Given the description of an element on the screen output the (x, y) to click on. 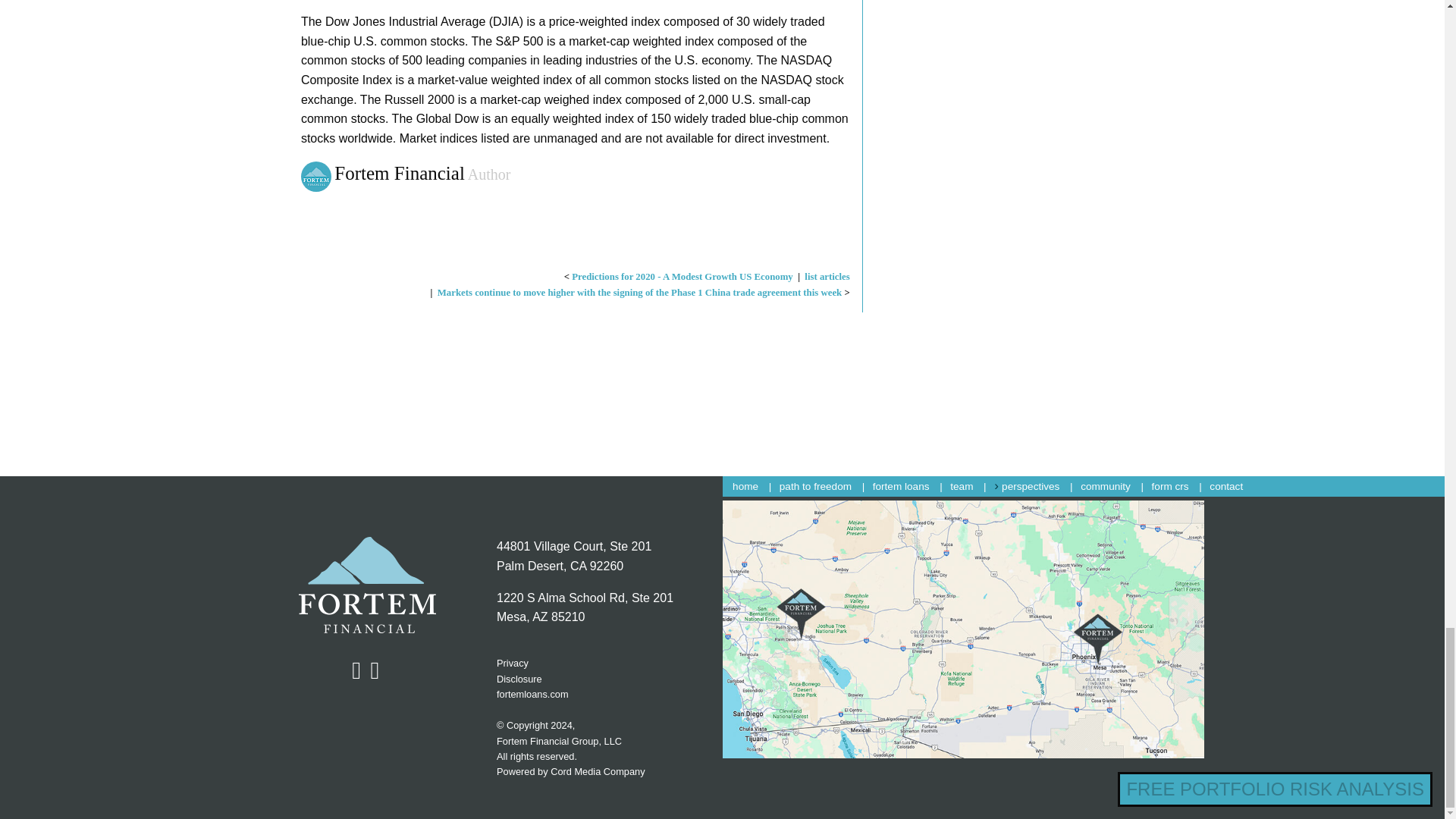
fortemloans.com (532, 694)
Path To Freedom (601, 607)
Perspectives (814, 486)
fortem loans (1030, 486)
path to freedom (901, 486)
Home (814, 486)
Form CRS (745, 486)
Fortem Financial (1170, 486)
Cord Media Company (317, 174)
Fortem Financial (597, 771)
Community (360, 585)
Privacy (1105, 486)
home (512, 663)
